Given the description of an element on the screen output the (x, y) to click on. 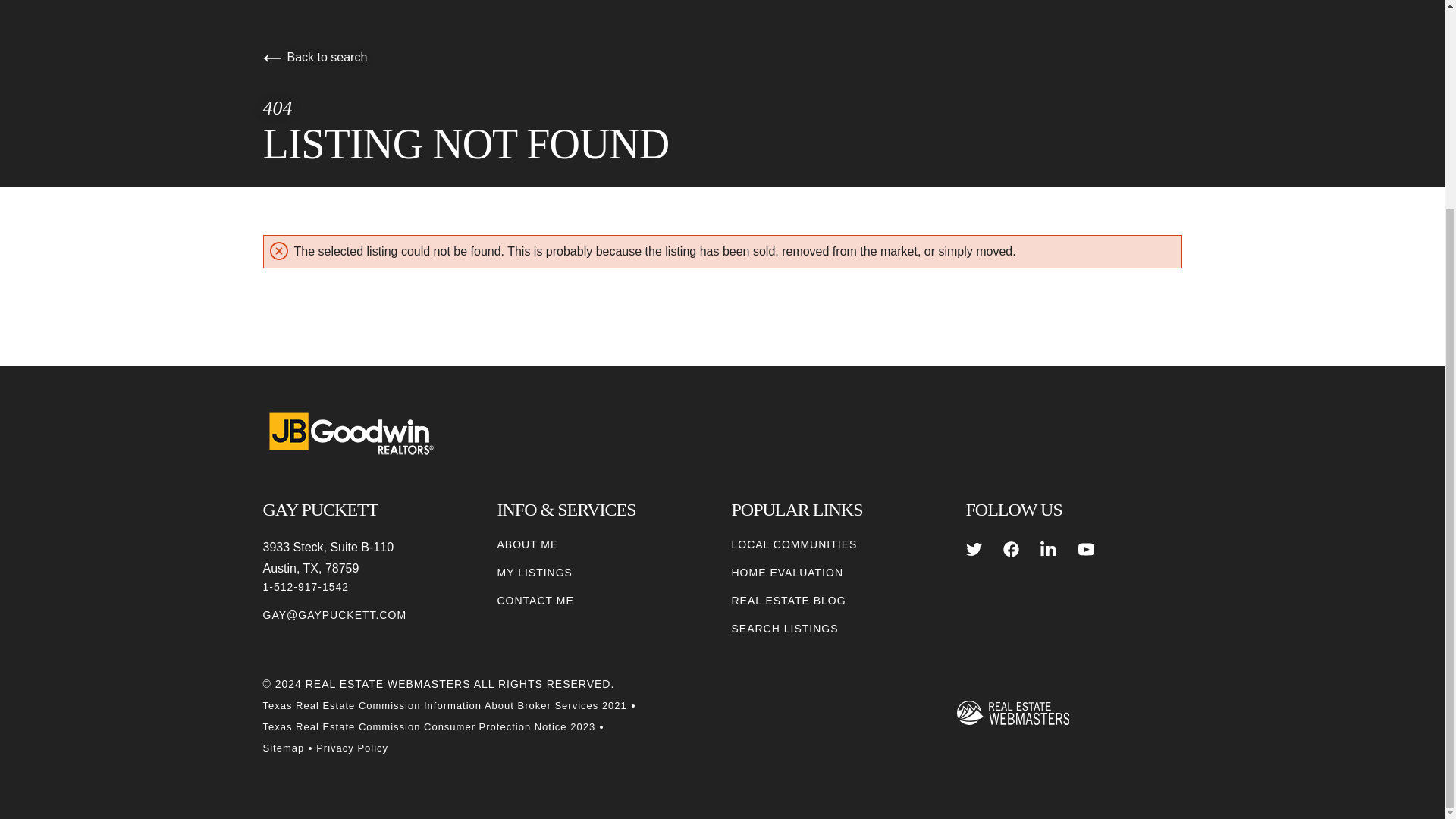
TWITTER (973, 549)
YOUTUBE (1086, 549)
LINKEDIN (1049, 549)
FACEBOOK (1011, 549)
